Given the description of an element on the screen output the (x, y) to click on. 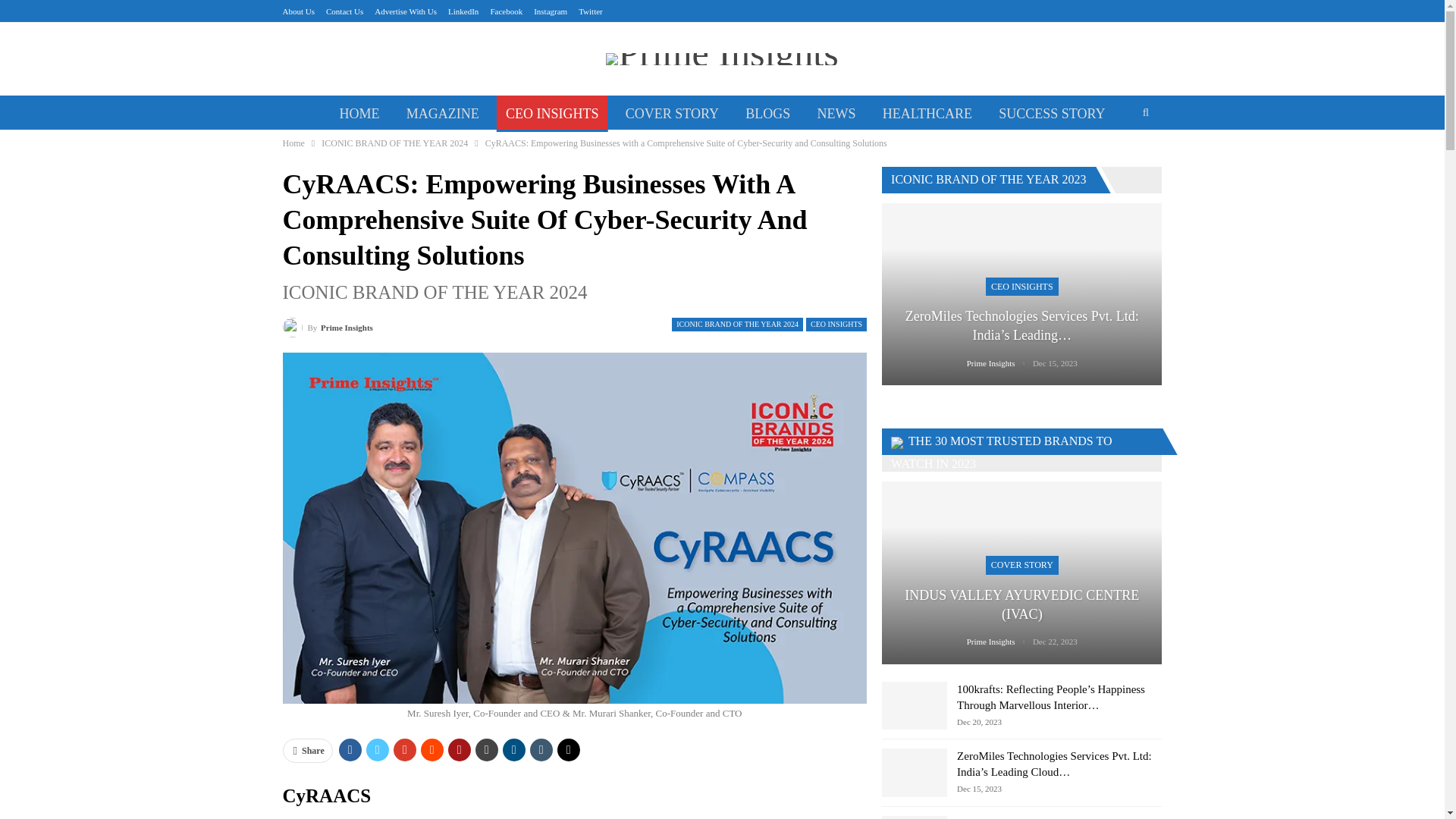
HEALTHCARE (927, 113)
About Us (298, 10)
Facebook (505, 10)
CEO INSIGHTS (552, 113)
Browse Author Articles (327, 326)
By Prime Insights (327, 326)
Contact Us (344, 10)
CEO INSIGHTS (836, 324)
NEWS (836, 113)
LinkedIn (463, 10)
